Given the description of an element on the screen output the (x, y) to click on. 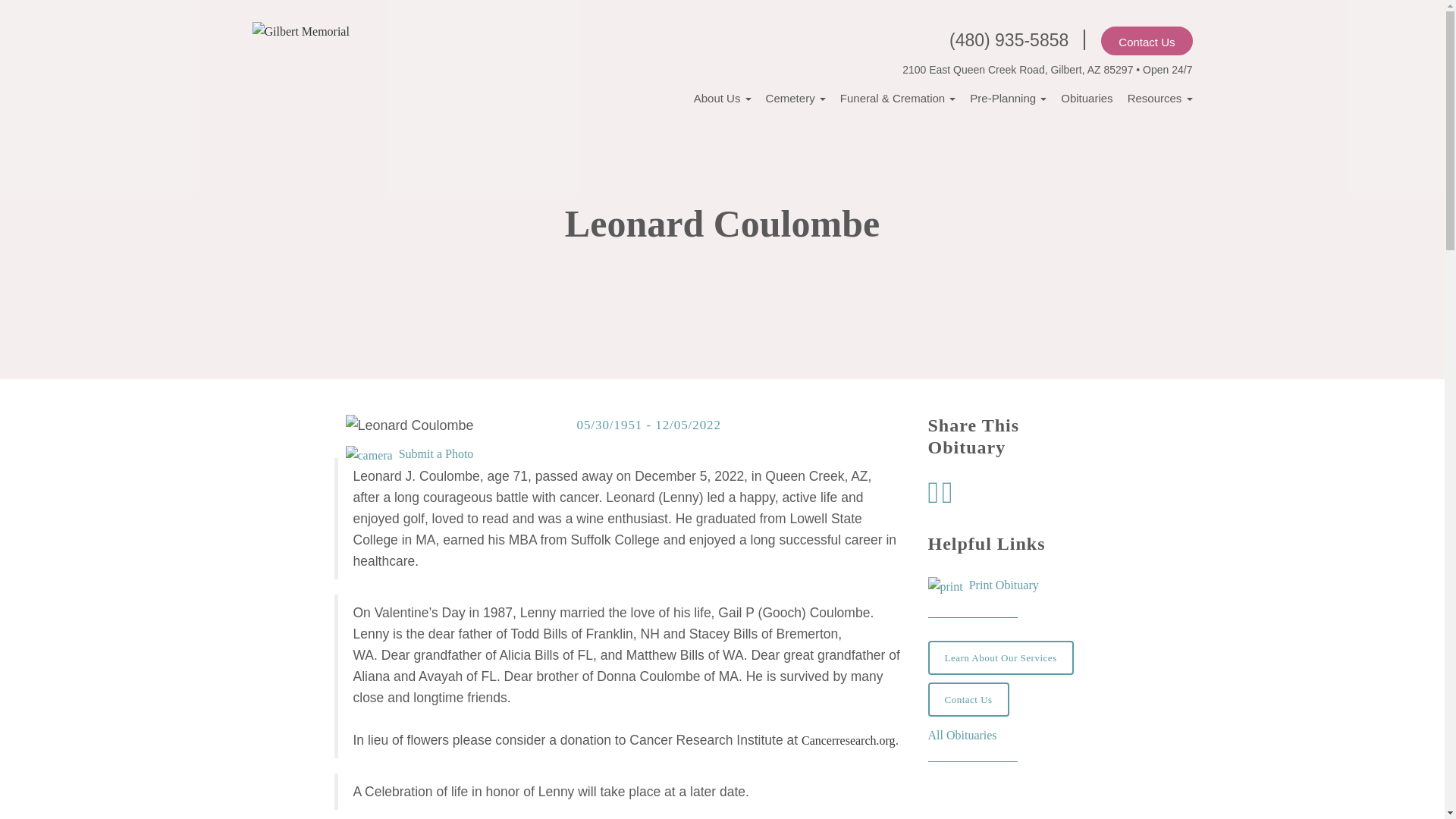
Obituaries (1086, 97)
Cancerresearch.org (848, 739)
Contact Us (1146, 40)
  Submit a Photo (410, 453)
Pre-Planning (1007, 97)
About Us (722, 97)
Resources (1159, 97)
Cemetery (795, 97)
